Given the description of an element on the screen output the (x, y) to click on. 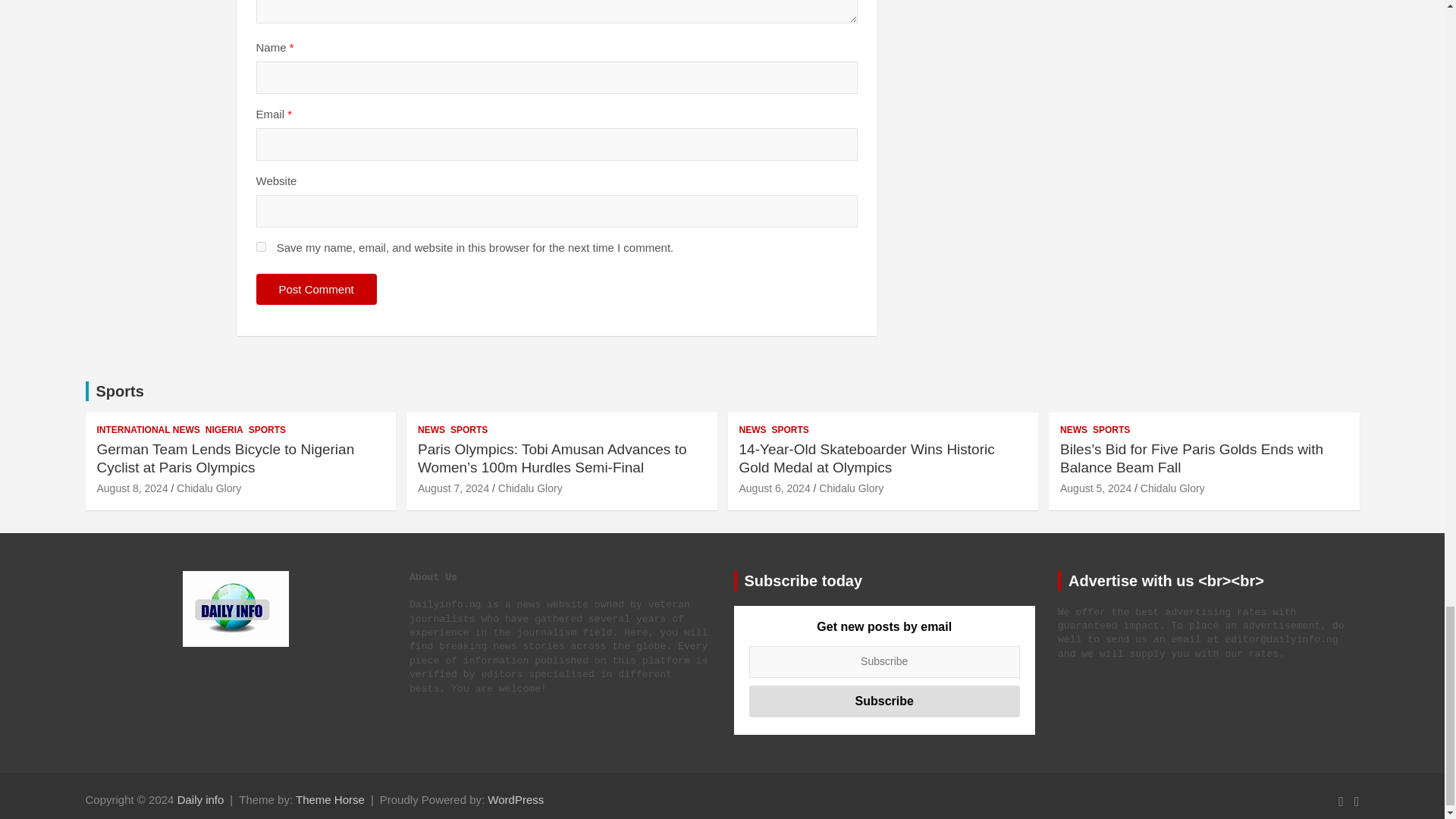
Subscribe (884, 701)
yes (261, 246)
Post Comment (316, 288)
